Given the description of an element on the screen output the (x, y) to click on. 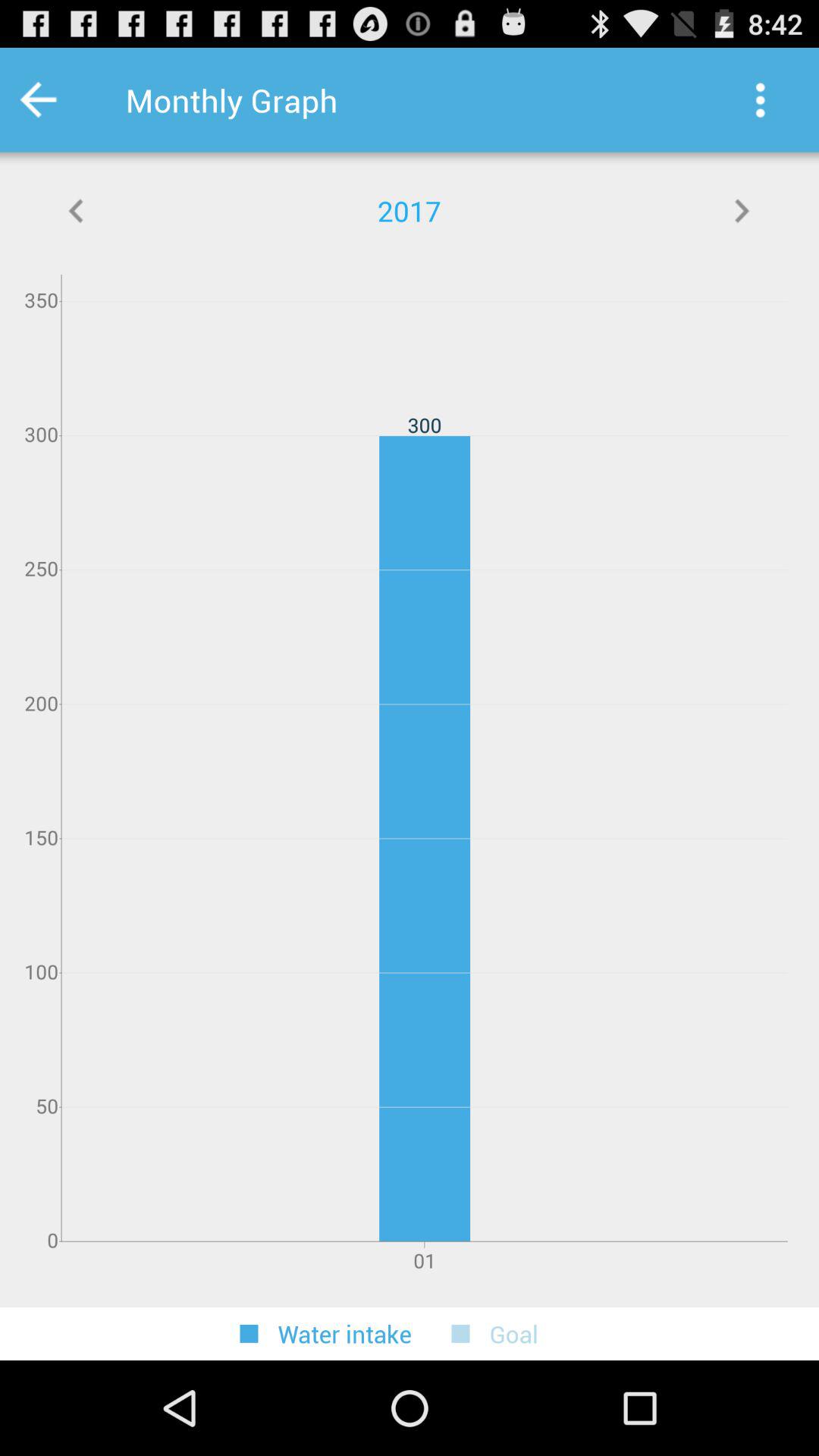
launch app to the left of the 2017 app (76, 210)
